Given the description of an element on the screen output the (x, y) to click on. 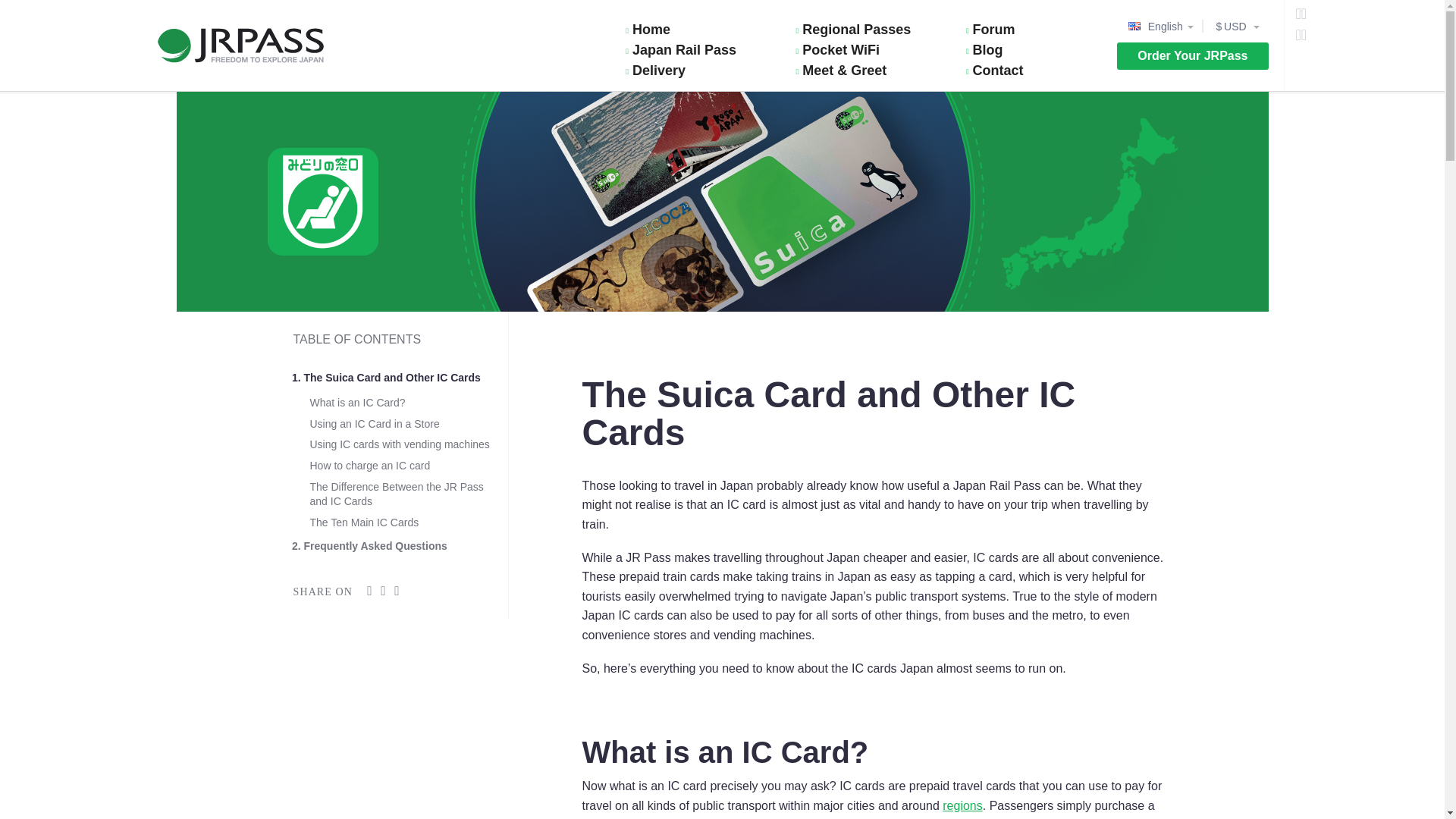
linkedin (397, 590)
Home (701, 29)
Pocket WiFi (871, 50)
Contact (1041, 70)
Using IC cards with vending machines (398, 444)
Japan Rail Pass (701, 50)
The Ten Main IC Cards (363, 522)
Delivery (701, 70)
Blog (1041, 50)
Order Your JRPass (1192, 55)
